Given the description of an element on the screen output the (x, y) to click on. 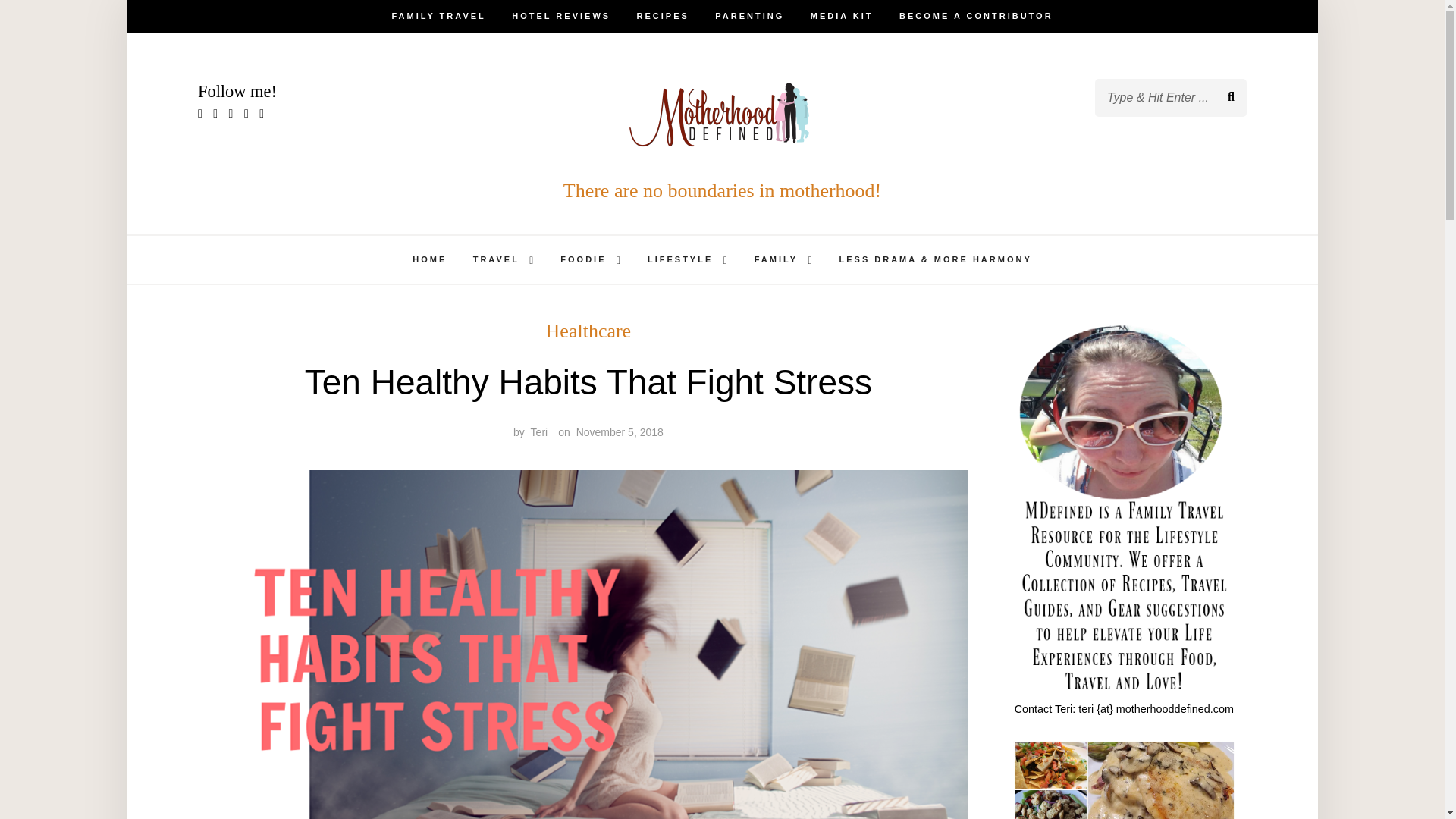
HOTEL REVIEWS (561, 16)
expand child menu (530, 260)
HOME (429, 259)
Submit (64, 23)
FAMILY TRAVEL (437, 16)
RECIPES (662, 16)
PARENTING (749, 16)
BECOME A CONTRIBUTOR (975, 16)
MEDIA KIT (841, 16)
TRAVEL (496, 259)
